Given the description of an element on the screen output the (x, y) to click on. 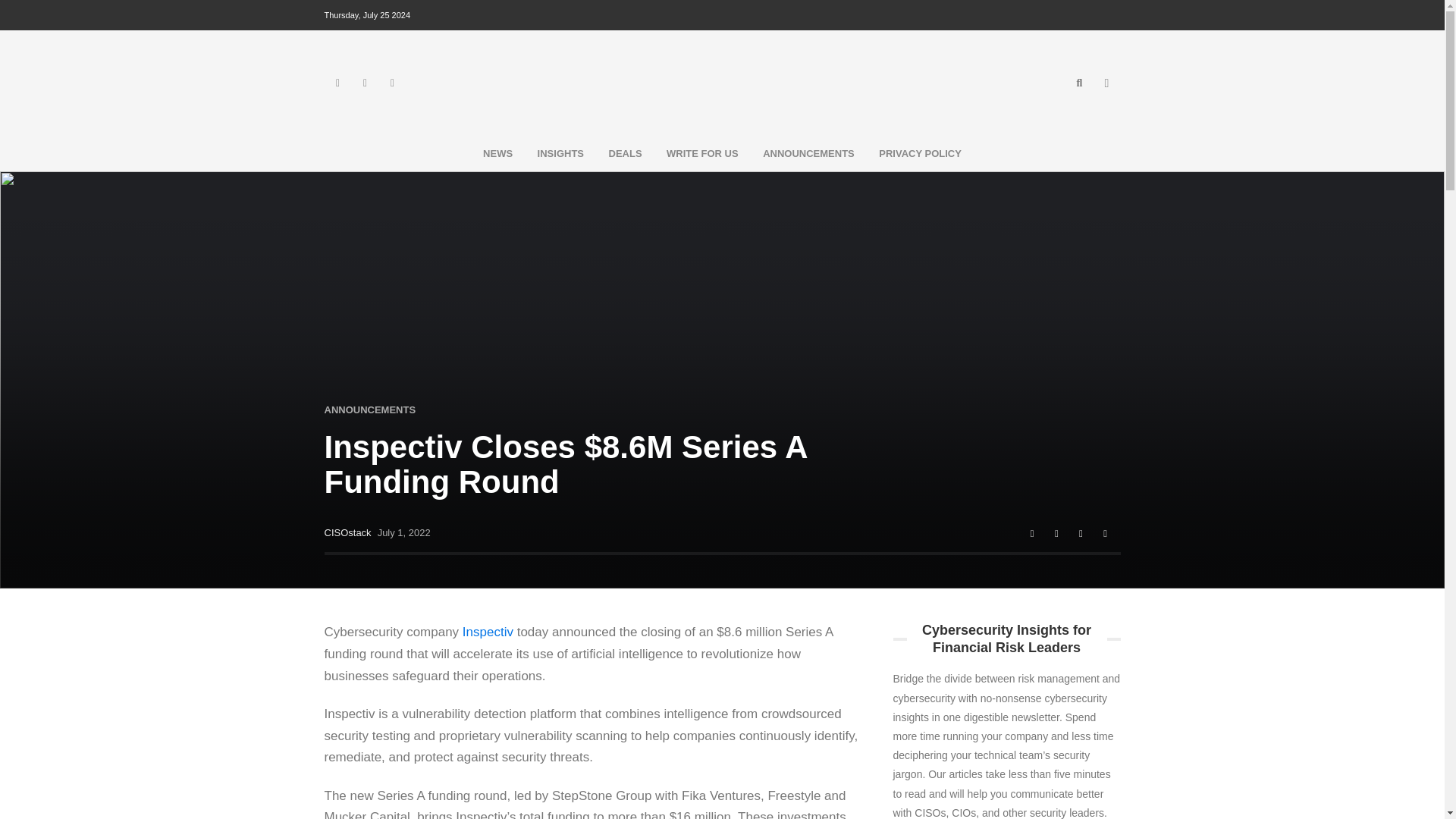
WRITE FOR US (702, 153)
PRIVACY POLICY (920, 153)
DEALS (624, 153)
ANNOUNCEMENTS (370, 409)
CISOstack (347, 532)
ANNOUNCEMENTS (808, 153)
Inspectiv (488, 631)
INSIGHTS (559, 153)
NEWS (497, 153)
